Given the description of an element on the screen output the (x, y) to click on. 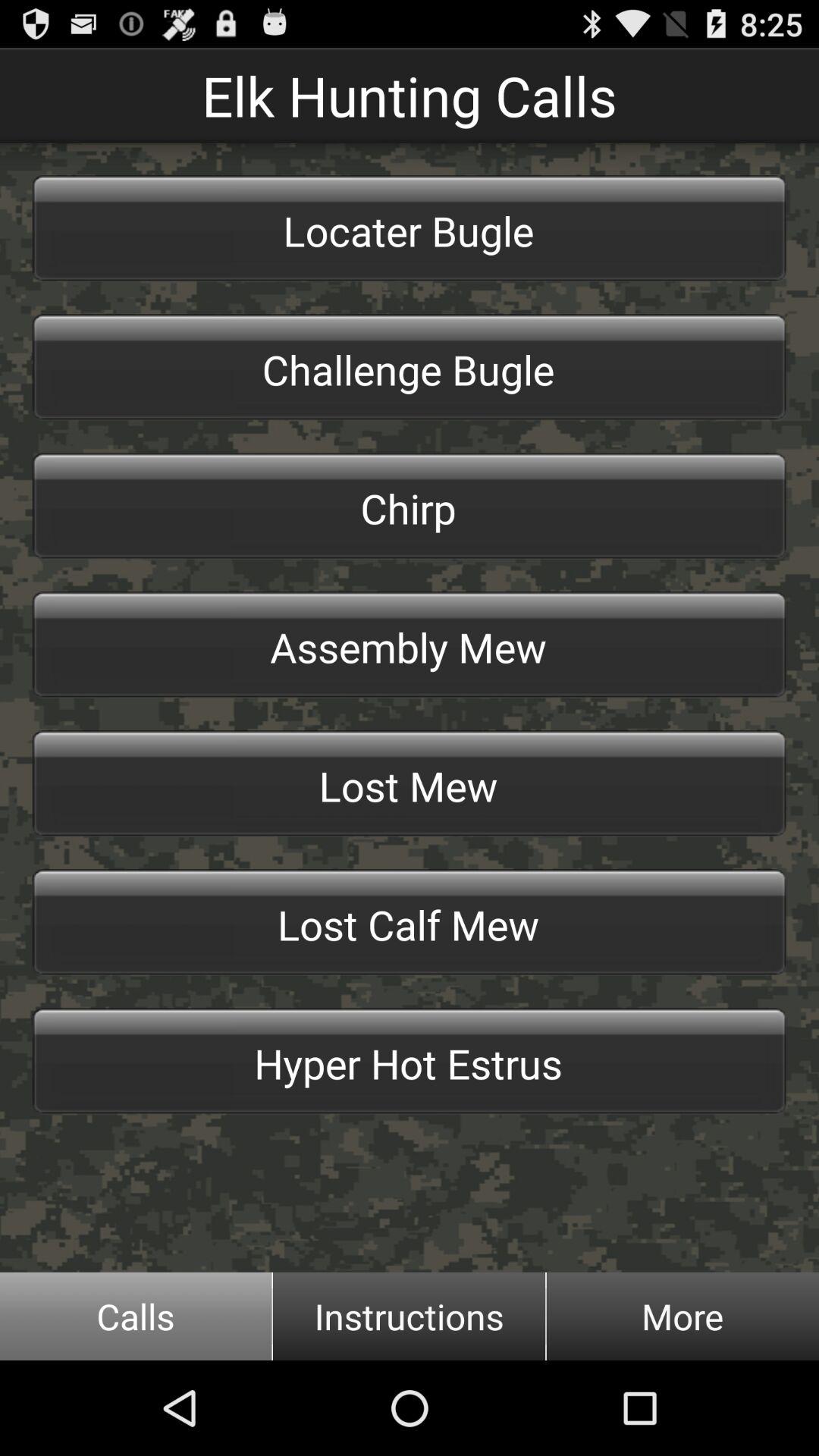
jump to the hyper hot estrus item (409, 1060)
